Given the description of an element on the screen output the (x, y) to click on. 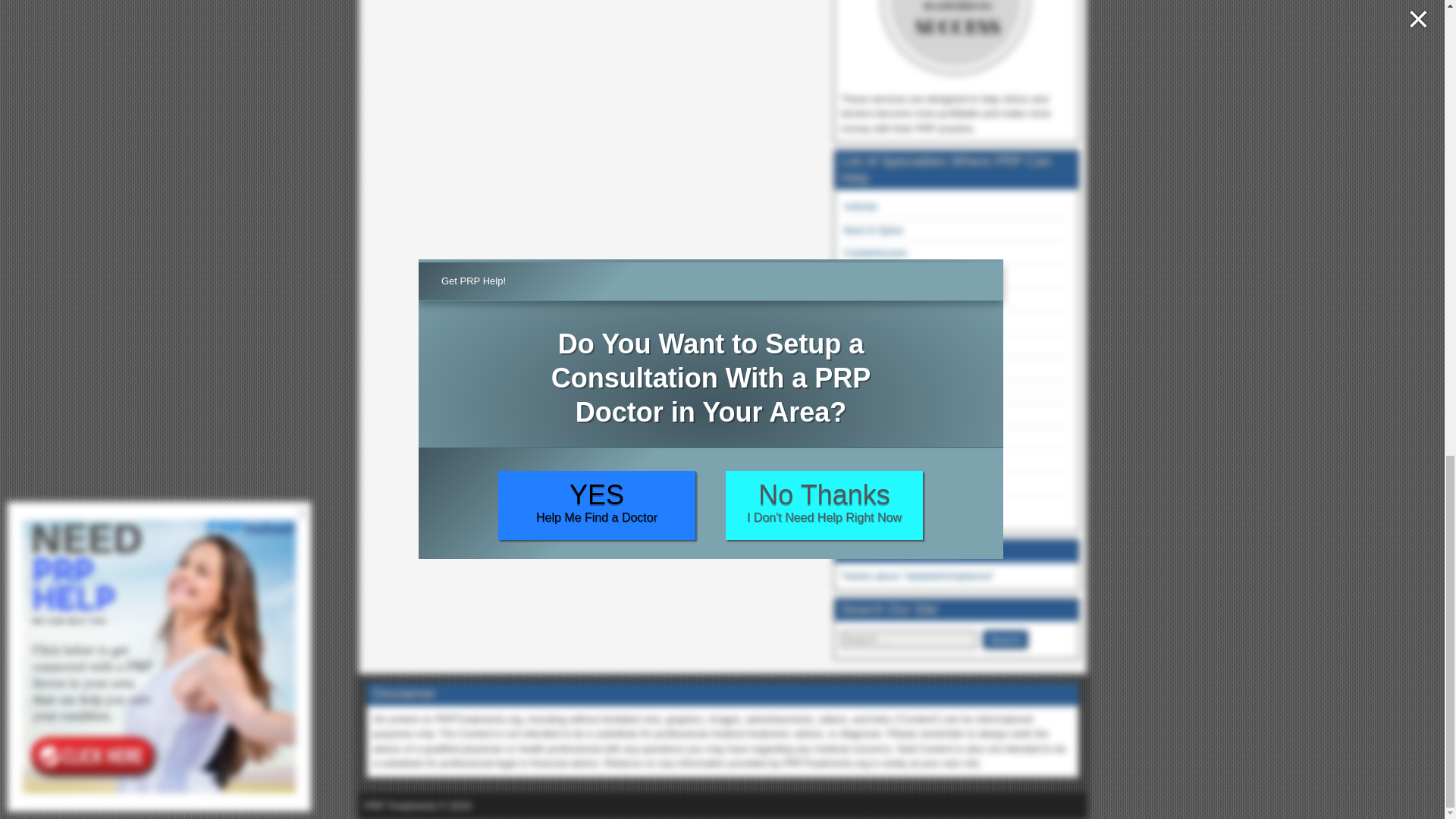
PRP Treatment for Hair Loss (864, 391)
Search (1004, 639)
Search (1004, 639)
